Given the description of an element on the screen output the (x, y) to click on. 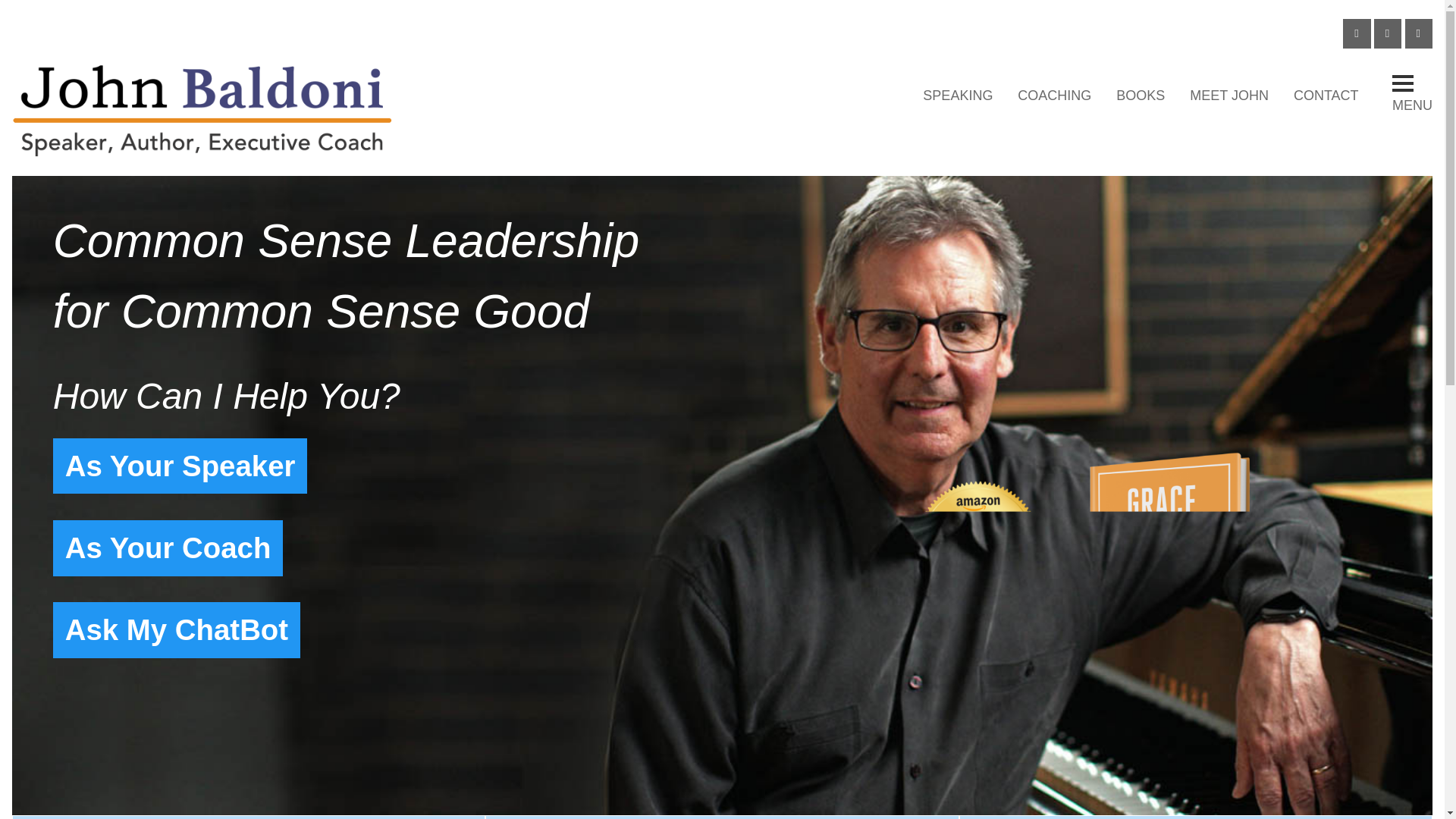
MEET JOHN (1229, 95)
COACHING (1054, 95)
Linkedin (1387, 33)
Twitter (1418, 33)
SPEAKING (958, 95)
Mail (1356, 33)
BOOKS (1140, 95)
CONTACT (1326, 95)
